Given the description of an element on the screen output the (x, y) to click on. 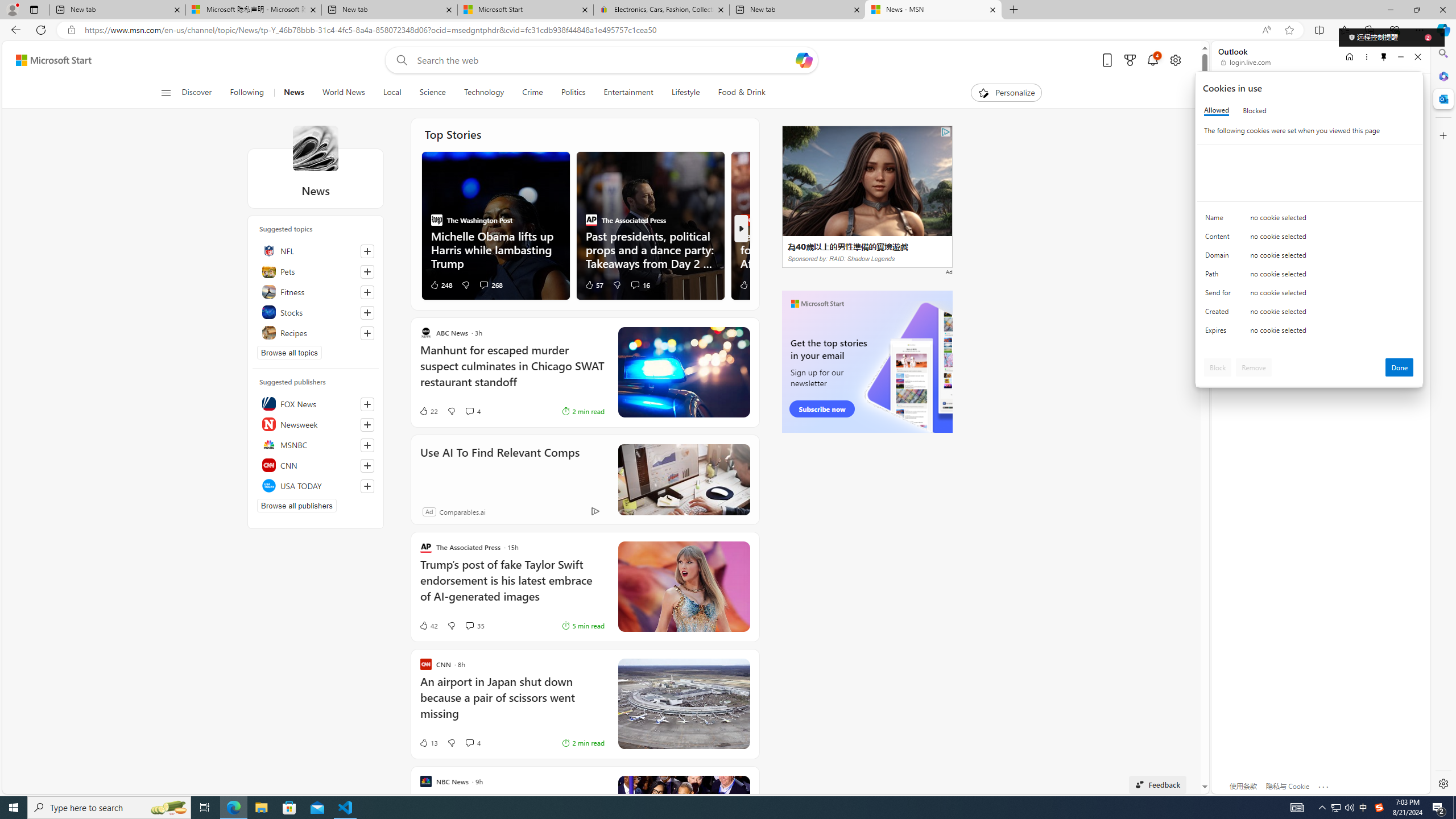
Blocked (1255, 110)
Lifestyle (685, 92)
Lifestyle (685, 92)
42 Like (427, 625)
